Given the description of an element on the screen output the (x, y) to click on. 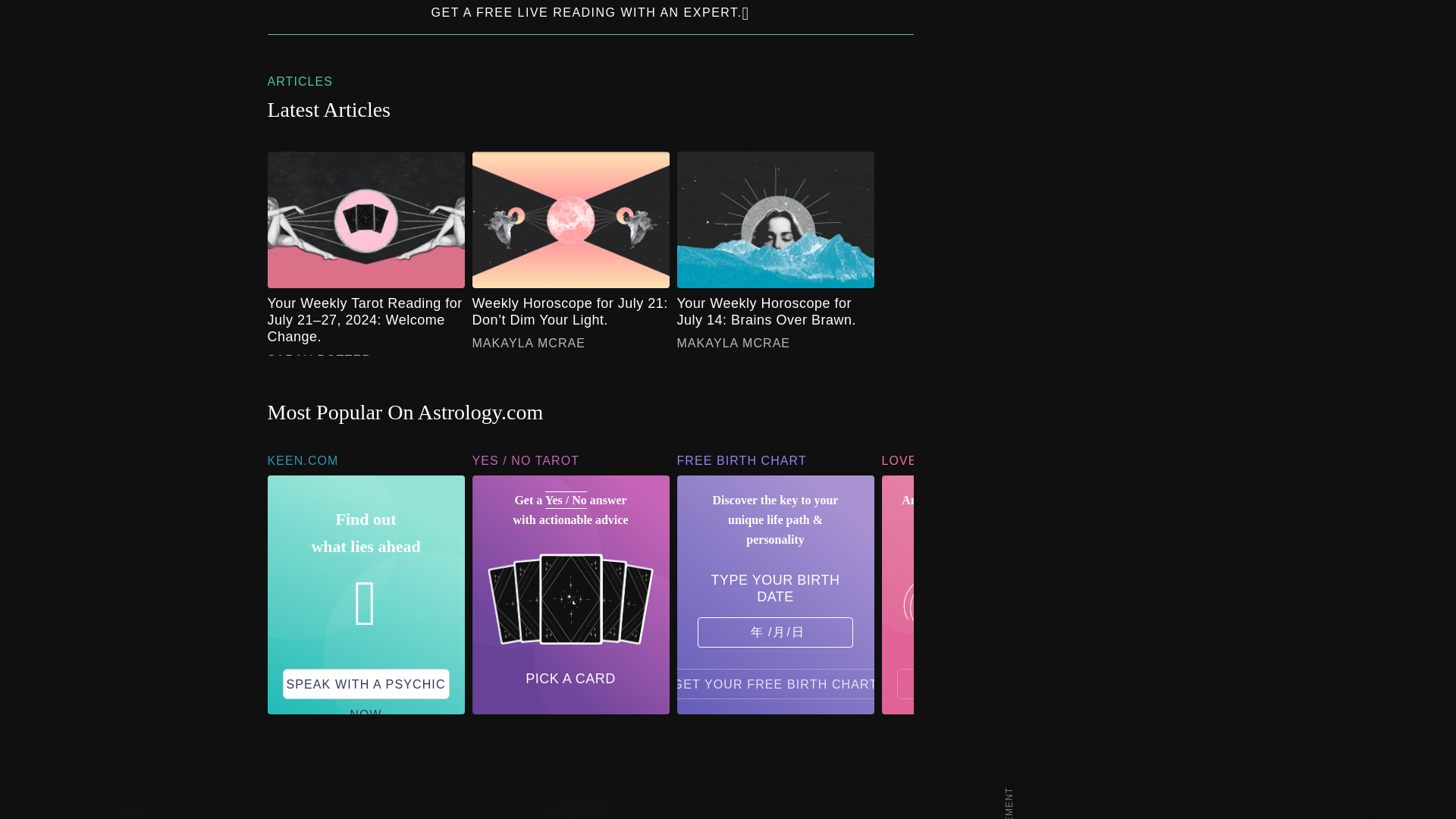
Get your free birth chart (775, 684)
